Given the description of an element on the screen output the (x, y) to click on. 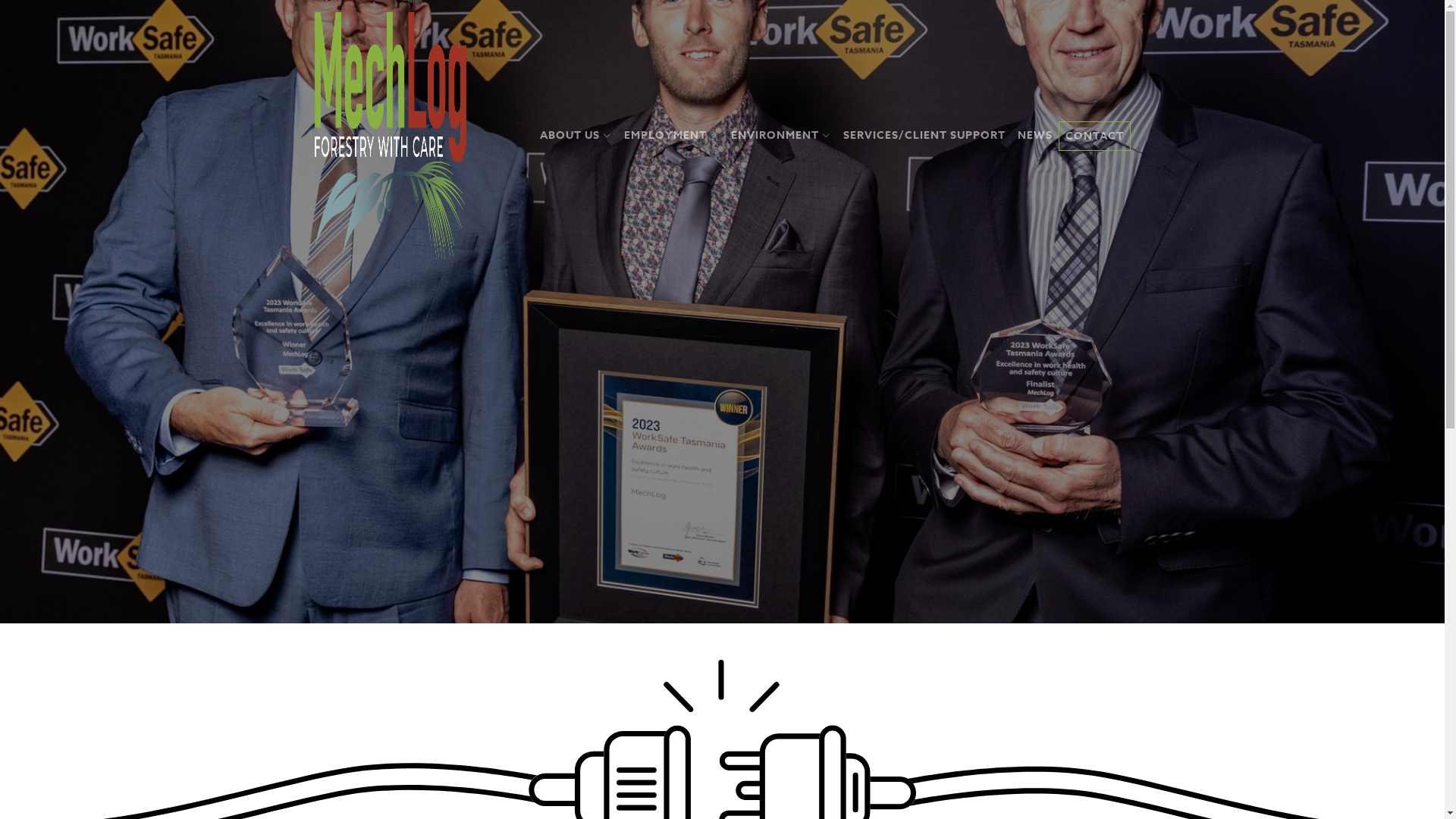
EMPLOYMENT Element type: text (670, 135)
ABOUT US Element type: text (575, 135)
NEWS Element type: text (1034, 135)
CONTACT Element type: text (1094, 135)
SERVICES/CLIENT SUPPORT Element type: text (924, 135)
ENVIRONMENT Element type: text (780, 135)
